Given the description of an element on the screen output the (x, y) to click on. 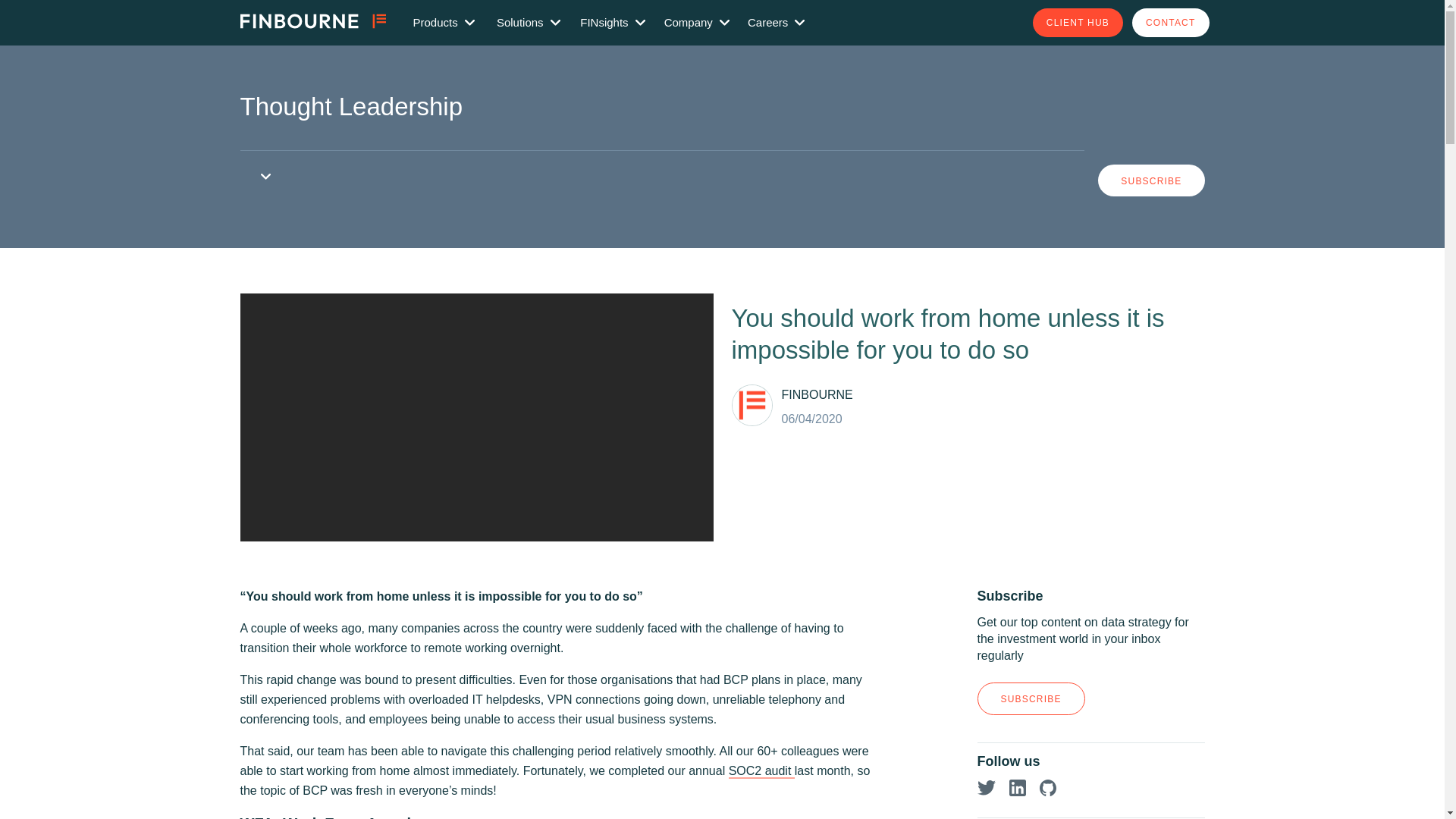
CLIENT HUB (1077, 22)
CONTACT (1170, 22)
Thought Leadership (351, 106)
SUBSCRIBE (1150, 180)
